Given the description of an element on the screen output the (x, y) to click on. 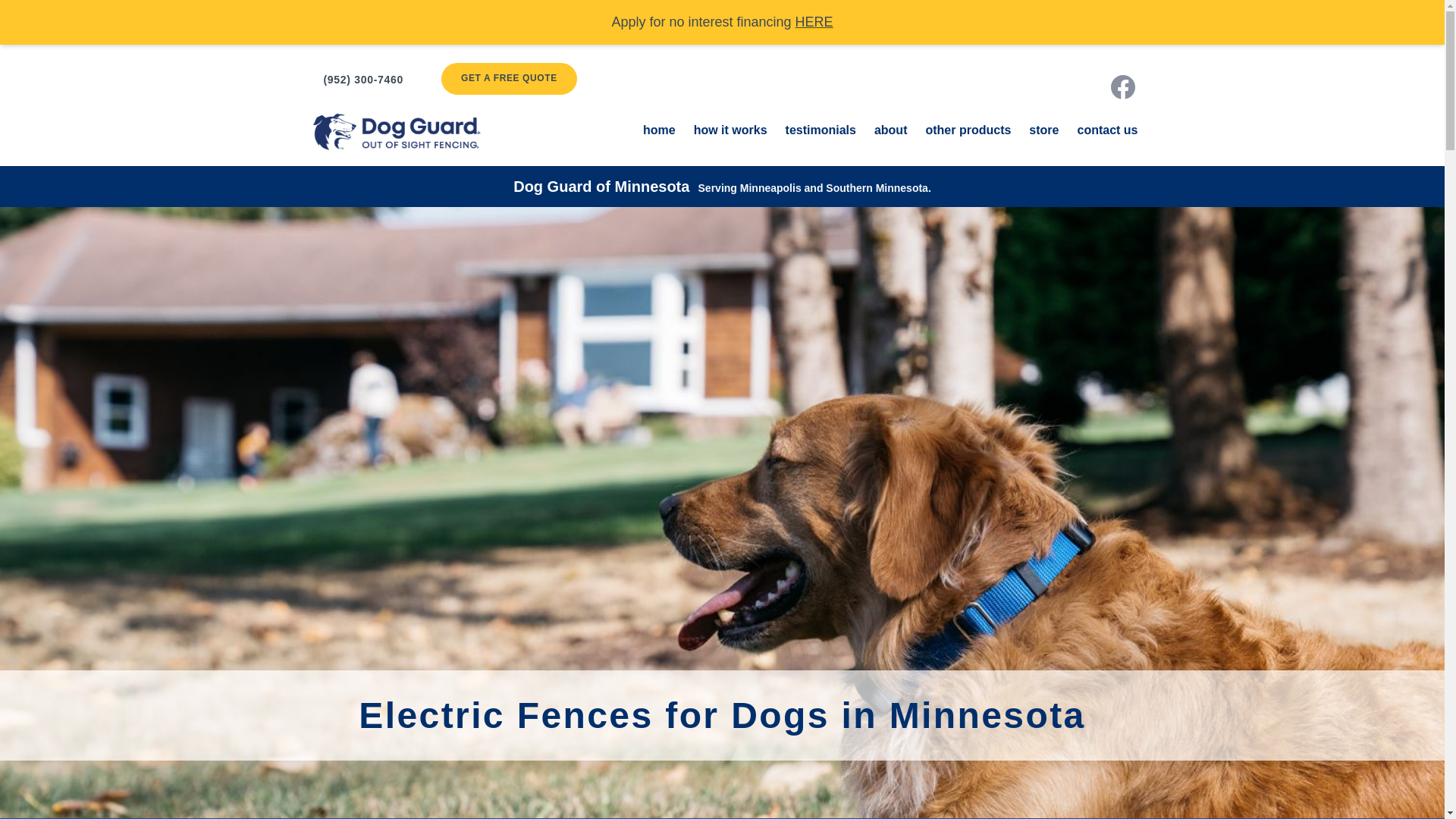
other products (967, 129)
how it works (730, 129)
contact us (1107, 129)
HERE (813, 22)
about (891, 129)
store (1043, 129)
home (659, 129)
testimonials (821, 129)
GET A FREE QUOTE (508, 79)
